Given the description of an element on the screen output the (x, y) to click on. 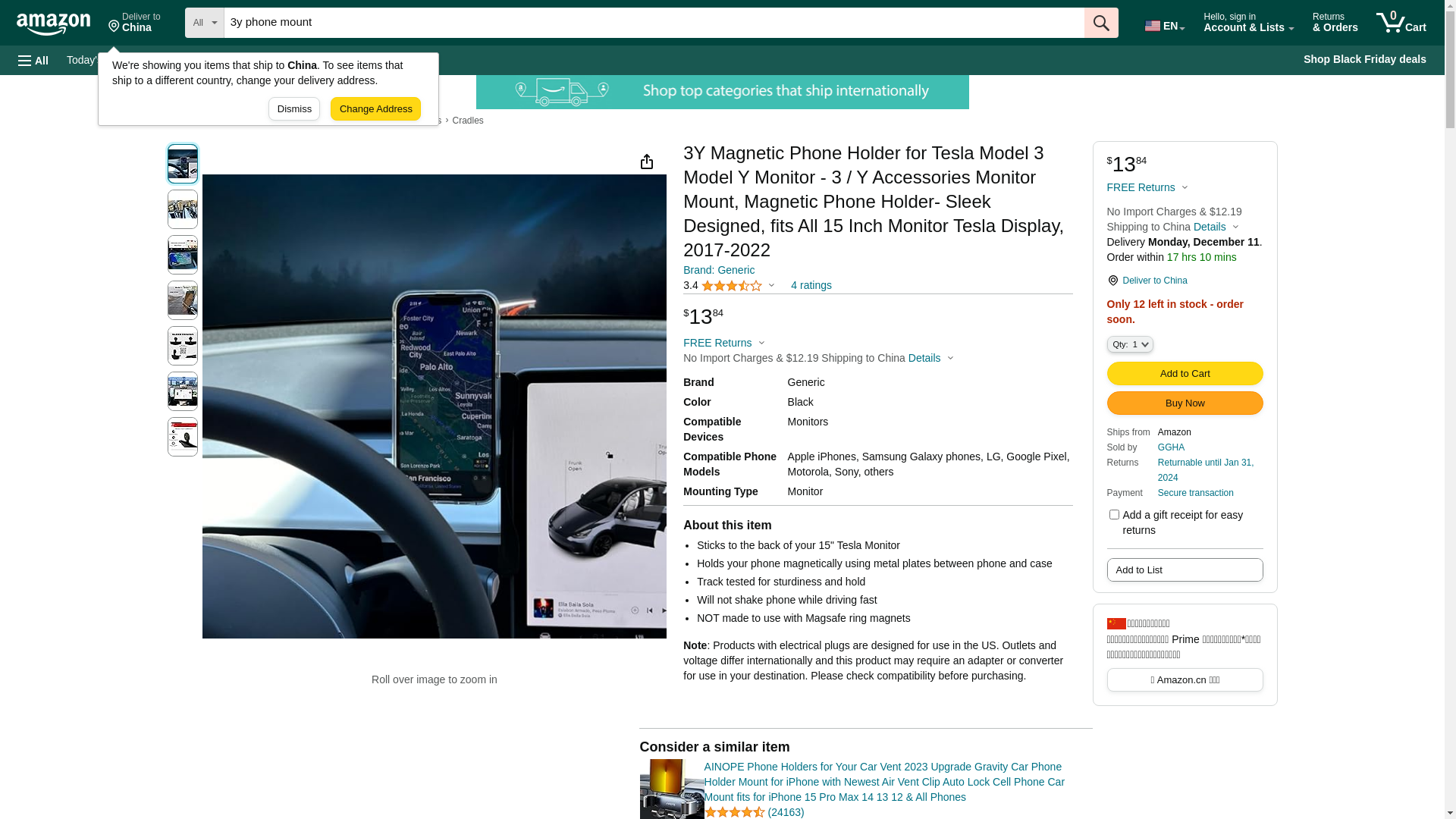
Accessories Element type: text (309, 120)
Deliver to China Element type: text (1185, 280)
FREE Returns Element type: text (723, 342)
Automobile Accessories Element type: text (393, 120)
Skip to main content Element type: text (60, 20)
Registry Element type: text (169, 59)
Hello, sign in
Account & Lists Element type: text (1248, 22)
Cradles Element type: text (467, 120)
FREE Returns Element type: text (1147, 186)
Go Element type: text (1101, 22)
Deliver to
China Element type: text (134, 22)
Start here. Element type: text (1278, 89)
Gift Cards Element type: text (334, 59)
EN Element type: text (1163, 22)
Details Element type: text (930, 357)
Share Element type: hover (646, 161)
Shop Black Friday deals Element type: text (1364, 59)
Returns
& Orders Element type: text (1335, 22)
Customer Service Element type: text (249, 59)
GGHA Element type: text (1170, 447)
Details Element type: text (1215, 226)
Add to Cart Element type: text (1184, 373)
0
Cart Element type: text (1401, 22)
Cell Phones & Accessories Element type: text (219, 120)
Add to Shopping Cart Element type: hover (1184, 373)
4 ratings Element type: text (810, 285)
Secure transaction Element type: text (1195, 492)
3.4 Element type: text (728, 285)
(24163) Element type: text (785, 812)
Sell Element type: text (384, 59)
Returnable until Jan 31, 2024 Element type: text (1205, 469)
Brand: Generic Element type: text (718, 269)
Buy Now Element type: hover (1184, 403)
Today's Deals Element type: text (99, 59)
Add to List Element type: text (1184, 569)
All Element type: text (33, 60)
Sign in Element type: text (1248, 65)
